Given the description of an element on the screen output the (x, y) to click on. 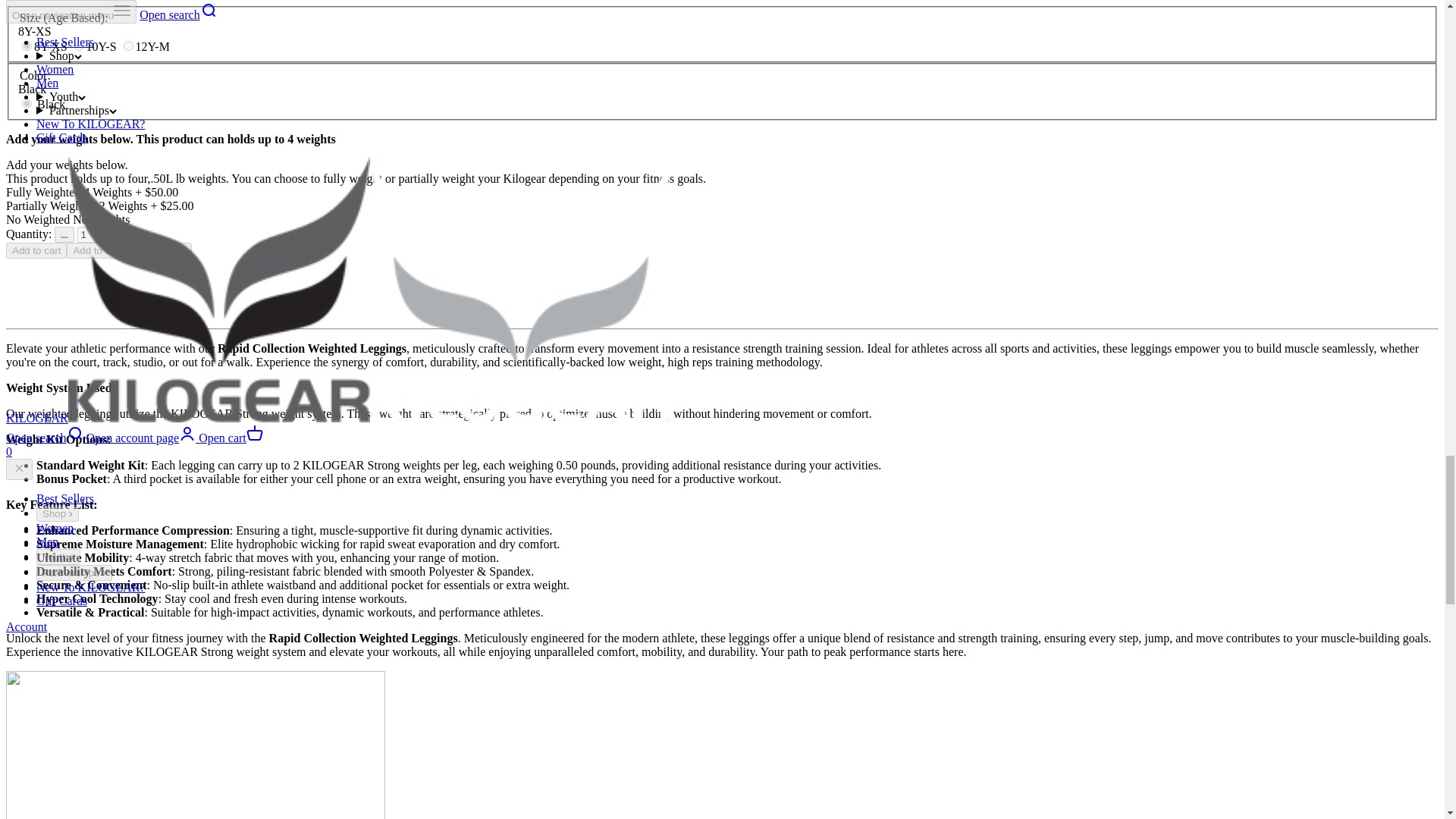
1 (89, 234)
12Y-M (128, 45)
Black (26, 103)
10Y-S (79, 45)
8Y-XS (26, 45)
